Given the description of an element on the screen output the (x, y) to click on. 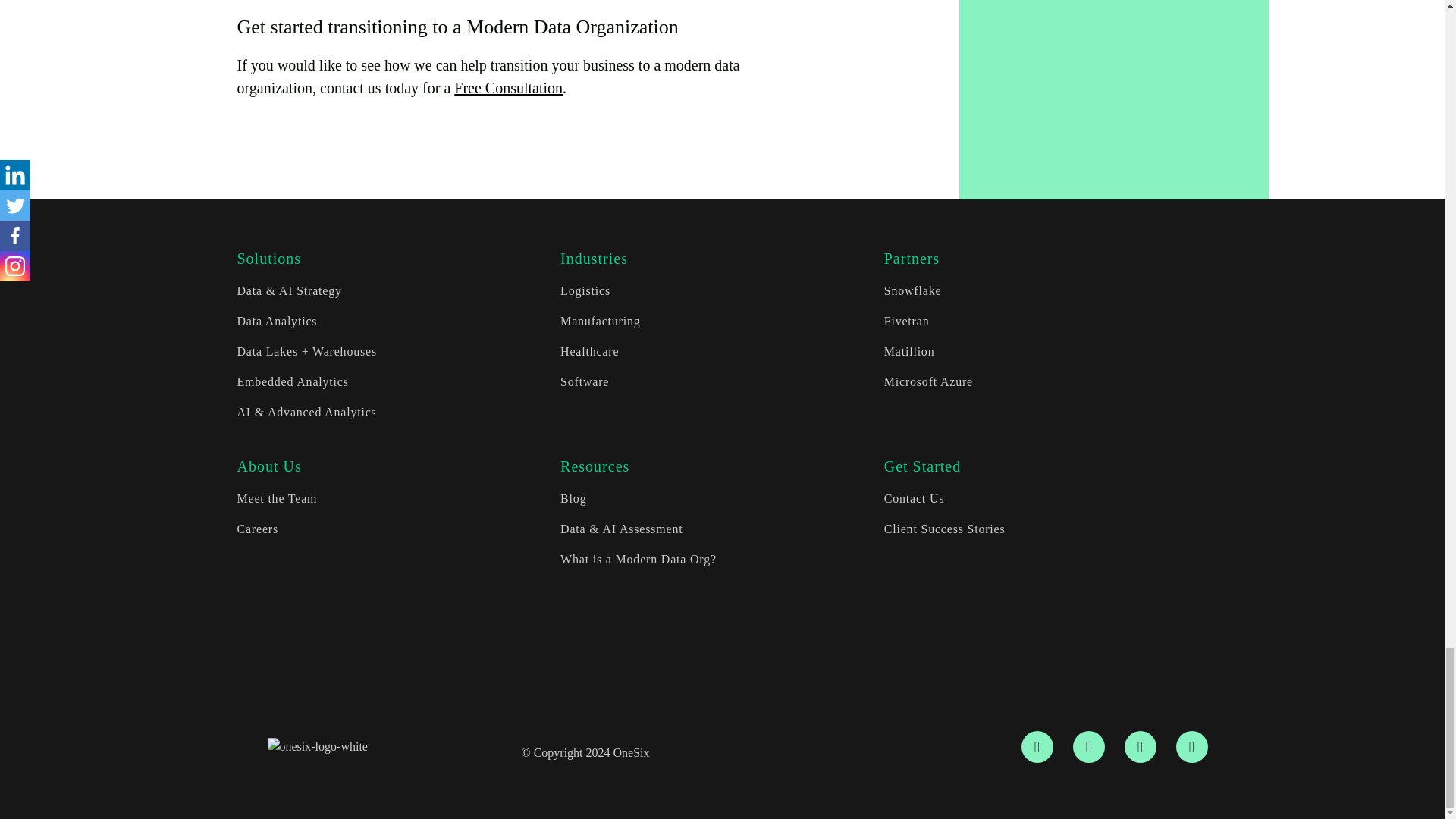
Free Consultation (508, 87)
Solutions (268, 258)
Data Analytics (276, 320)
